Given the description of an element on the screen output the (x, y) to click on. 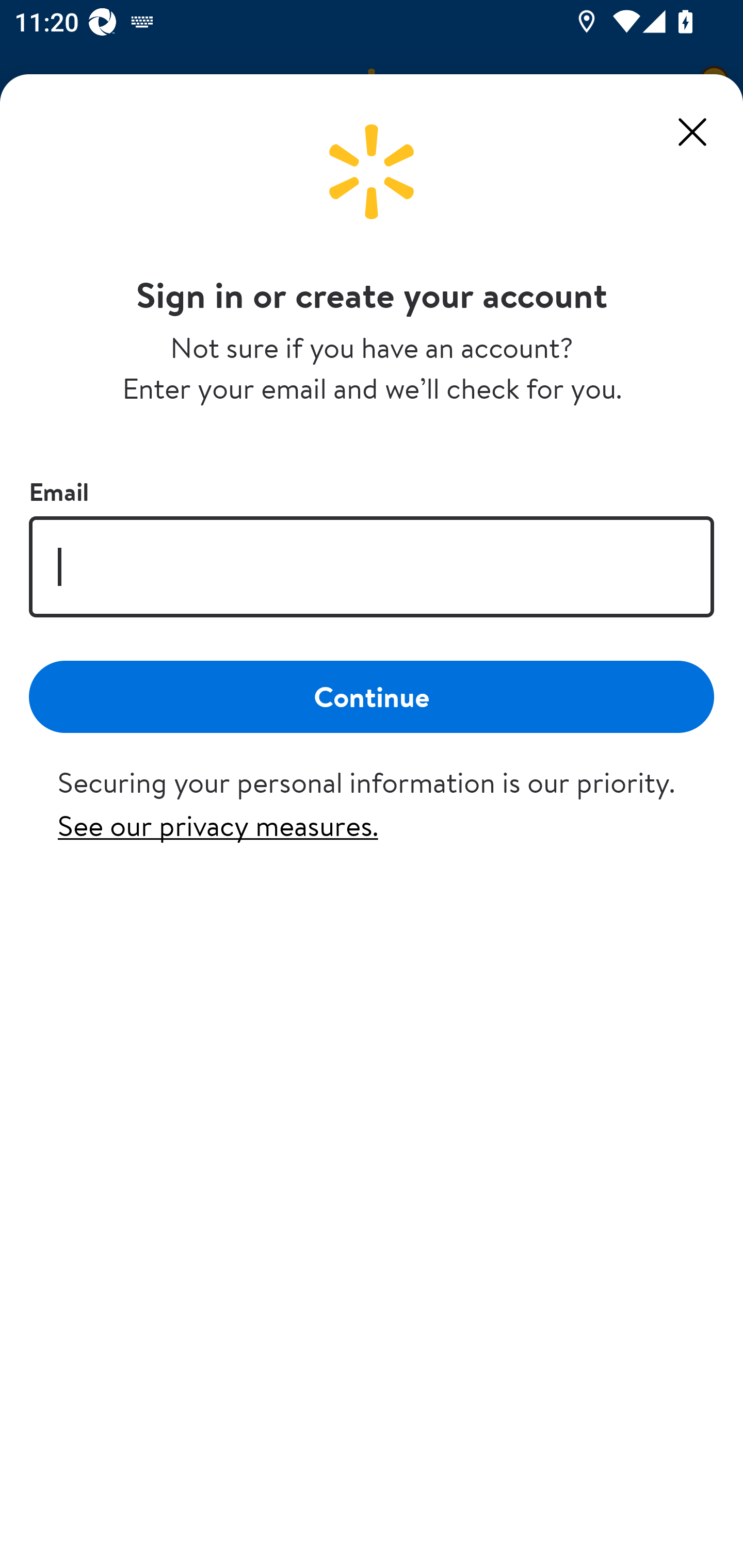
Close (692, 131)
Email (371, 566)
Continue (371, 696)
